Given the description of an element on the screen output the (x, y) to click on. 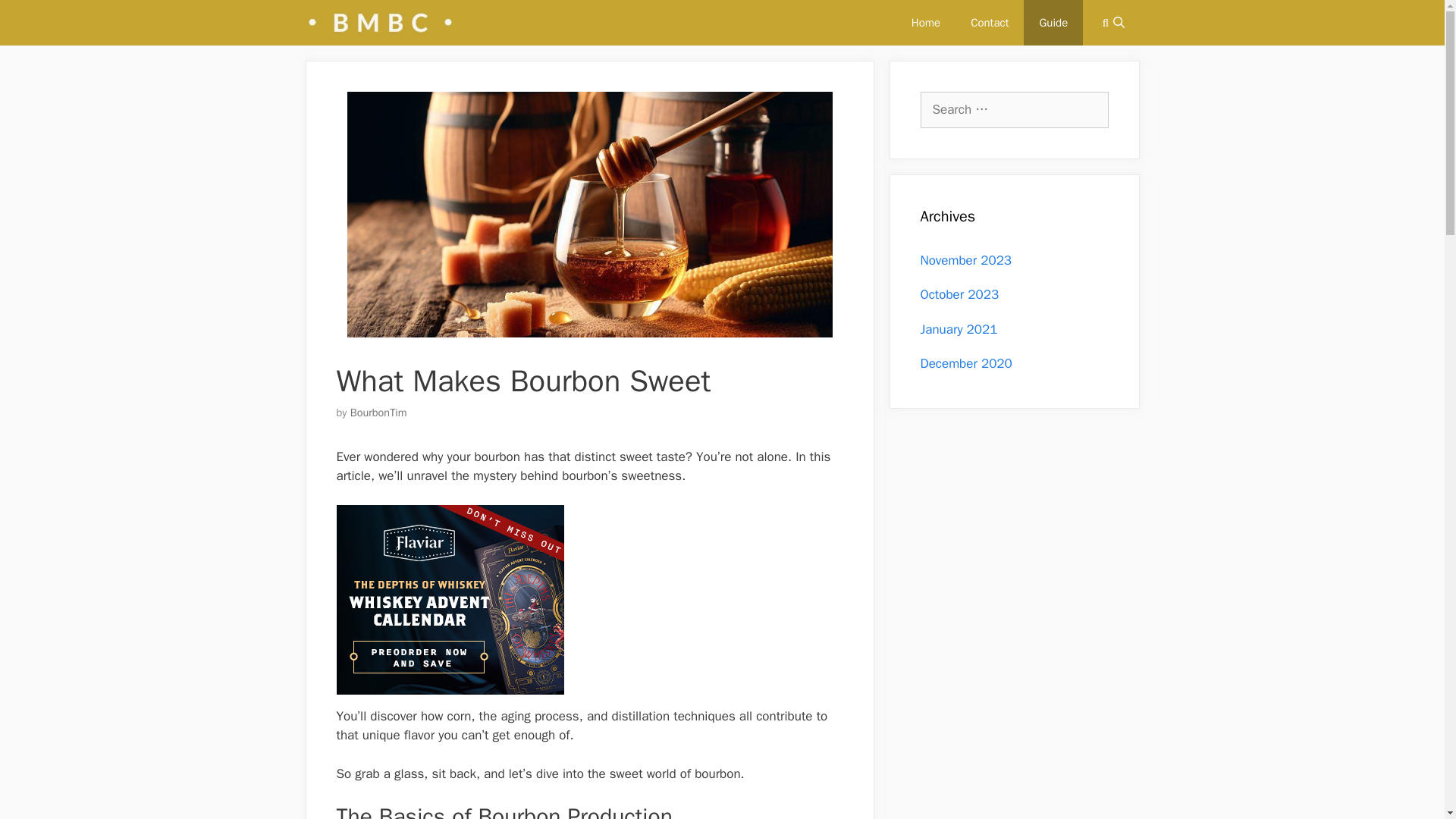
Contact (989, 22)
Search for: (1014, 109)
Search (33, 17)
October 2023 (959, 294)
View all posts by BourbonTim (378, 412)
Guide (1053, 22)
November 2023 (965, 259)
BourbonTim (378, 412)
January 2021 (958, 329)
December 2020 (965, 363)
